Given the description of an element on the screen output the (x, y) to click on. 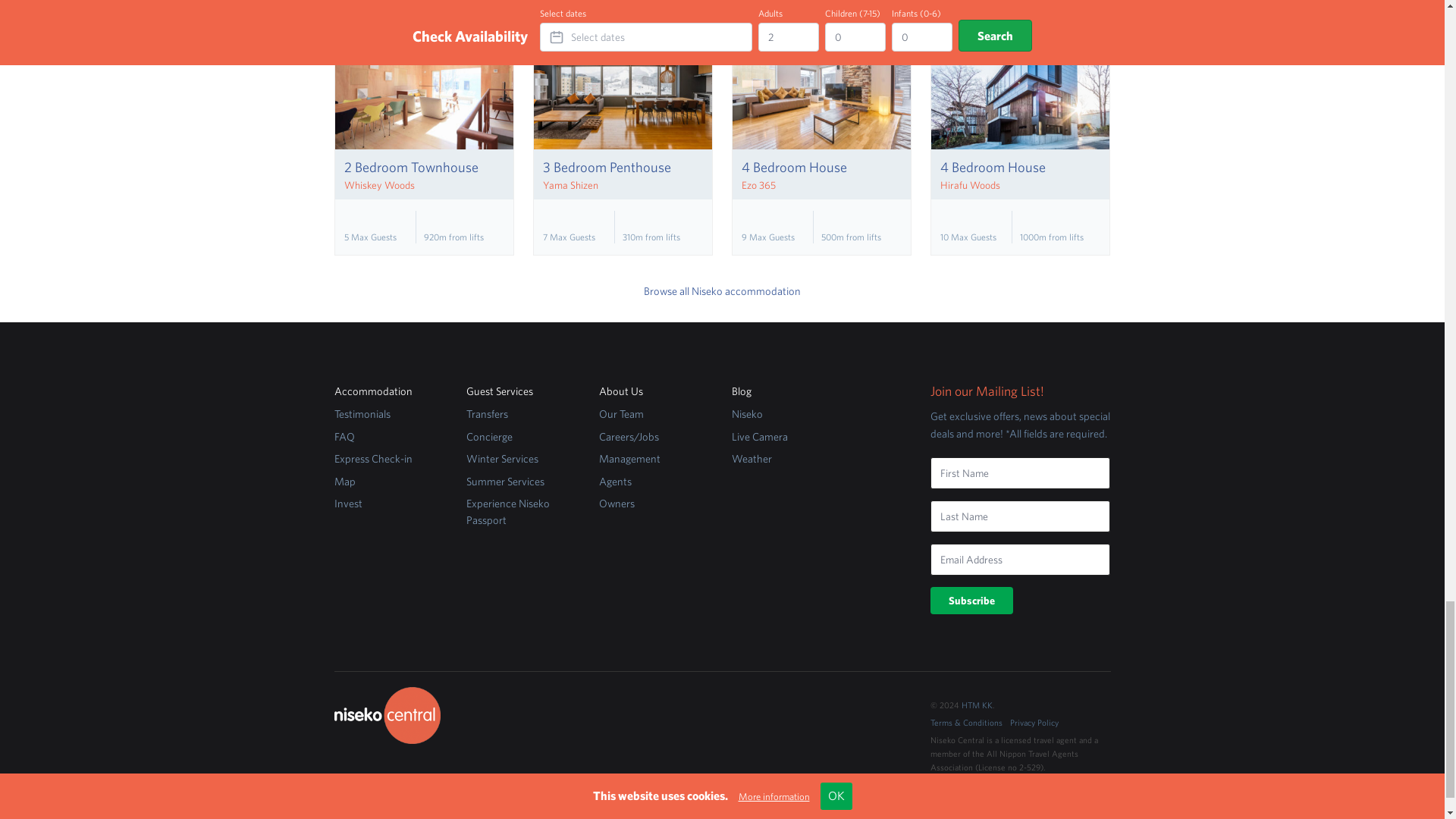
Subscribe (971, 600)
